Given the description of an element on the screen output the (x, y) to click on. 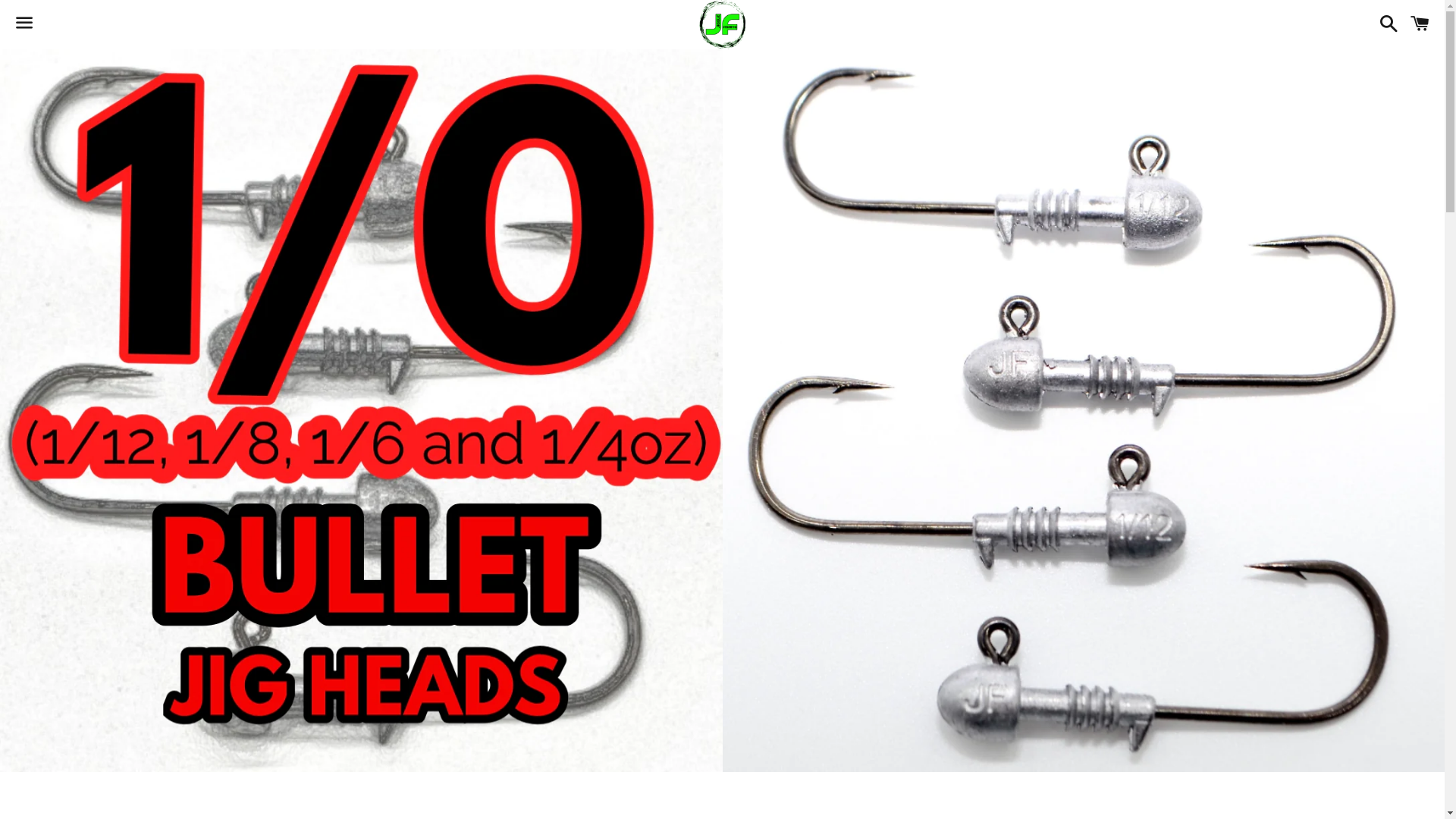
Search Element type: text (1384, 24)
Menu Element type: text (24, 24)
Cart Element type: text (1419, 24)
